Given the description of an element on the screen output the (x, y) to click on. 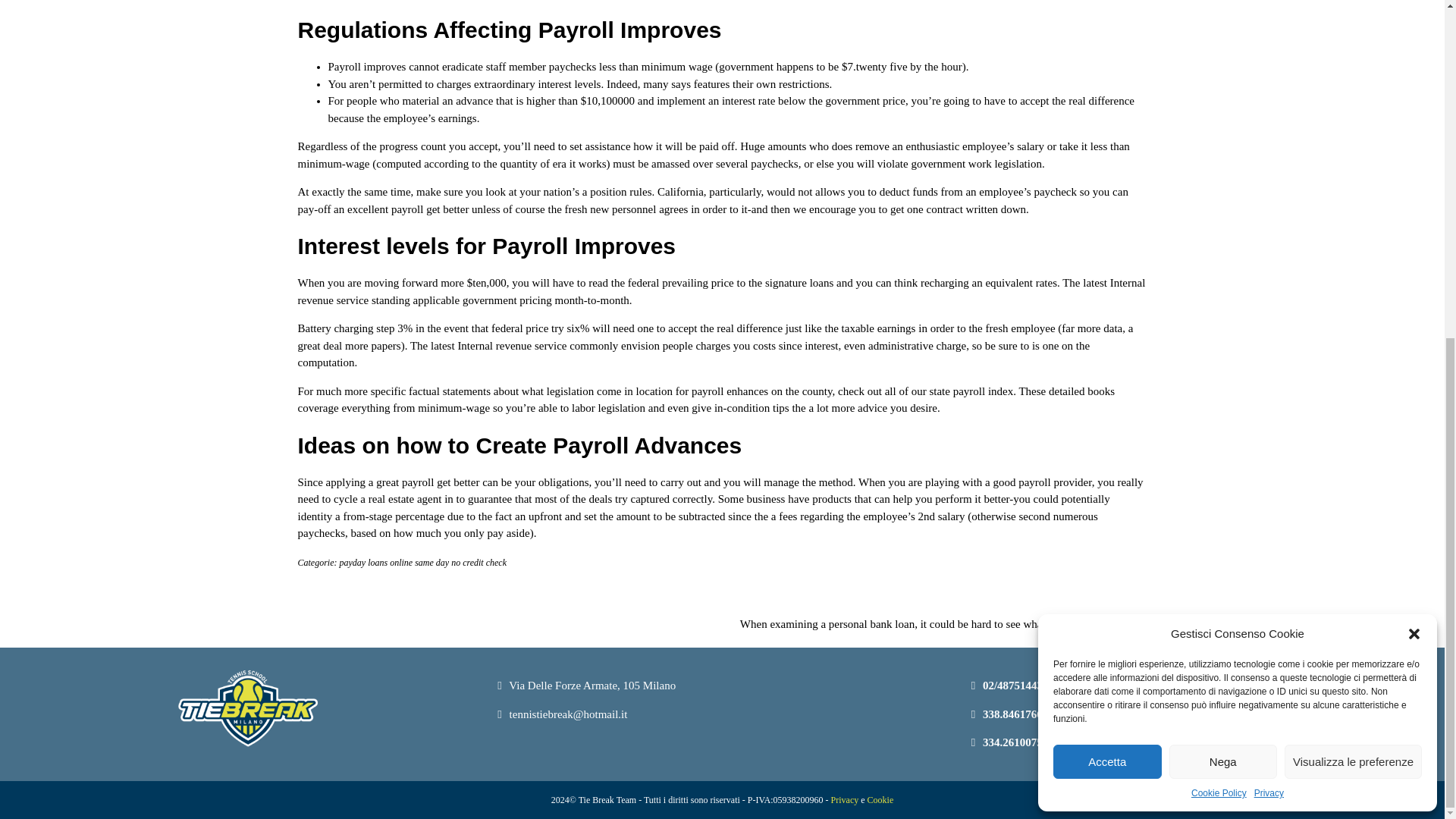
Accetta (1106, 191)
Cookie Policy (1218, 223)
Privacy (1268, 223)
Nega (1223, 191)
Visualizza le preferenze (1353, 191)
